Given the description of an element on the screen output the (x, y) to click on. 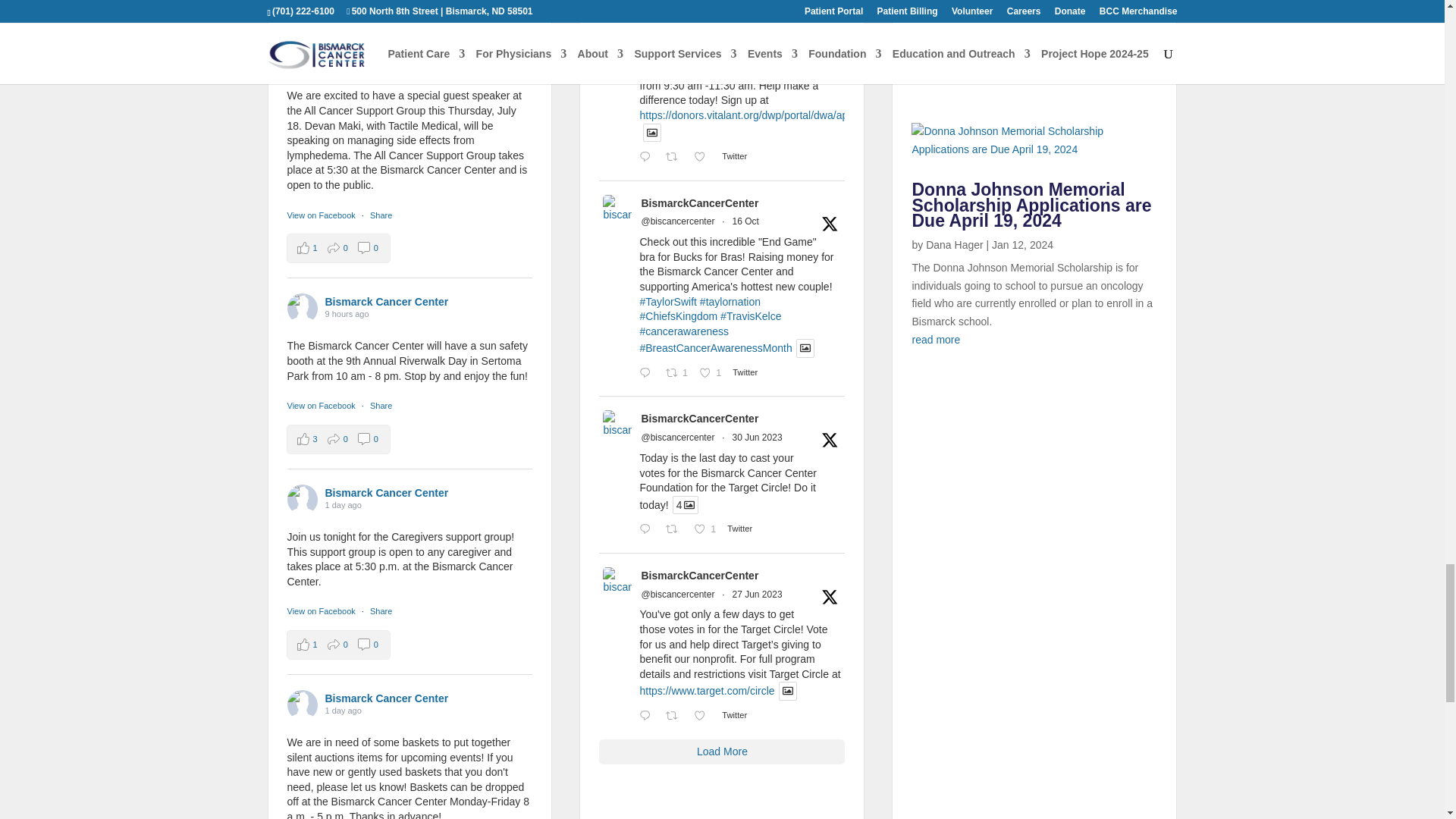
Share (380, 215)
Bismarck Cancer Center (456, 4)
Share (380, 405)
Posts by Dana Hager (955, 244)
View on Facebook (321, 610)
Share (380, 610)
View on Facebook (321, 405)
View on Facebook (321, 215)
